Given the description of an element on the screen output the (x, y) to click on. 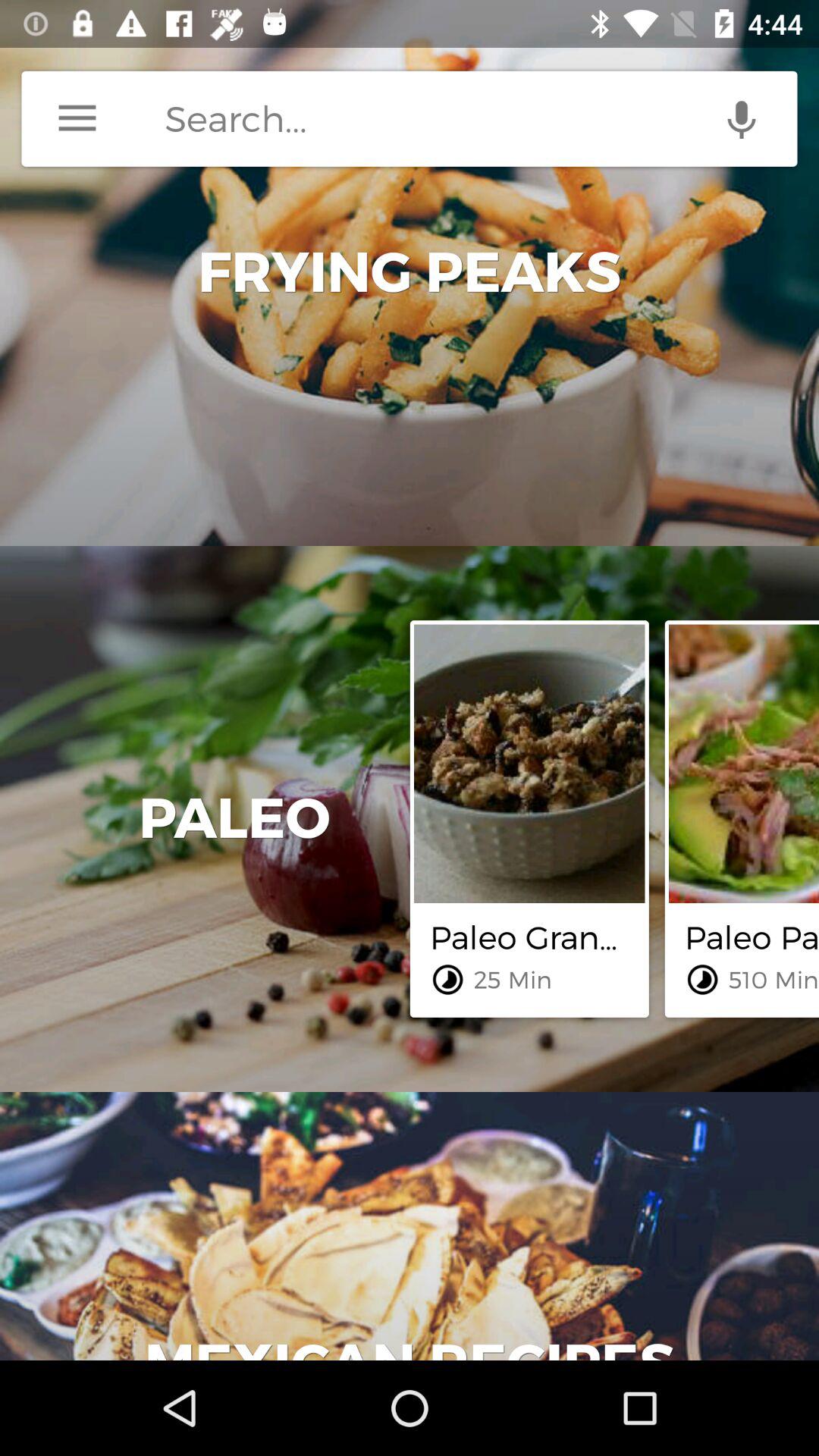
voice search (741, 118)
